Given the description of an element on the screen output the (x, y) to click on. 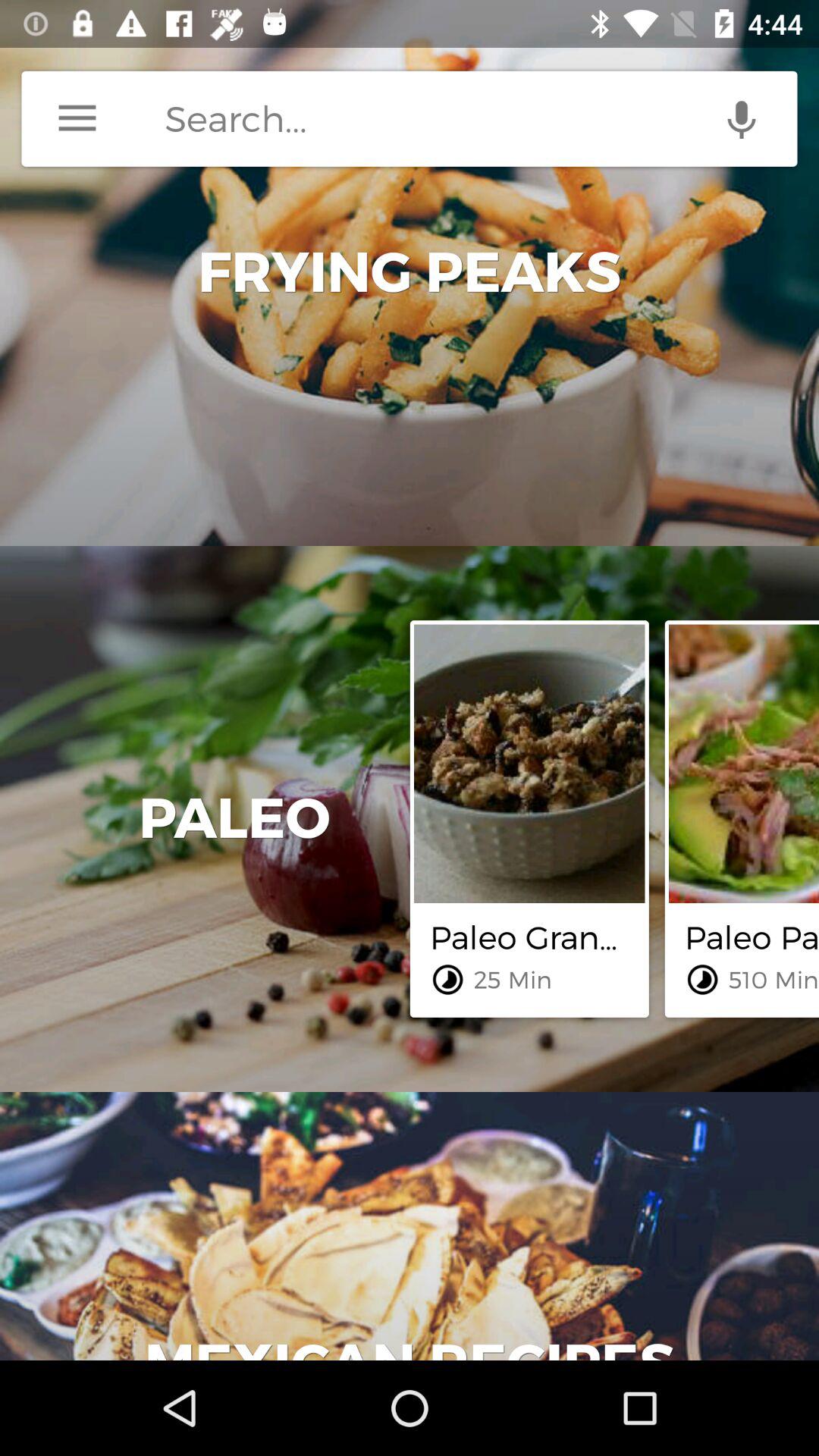
voice search (741, 118)
